Given the description of an element on the screen output the (x, y) to click on. 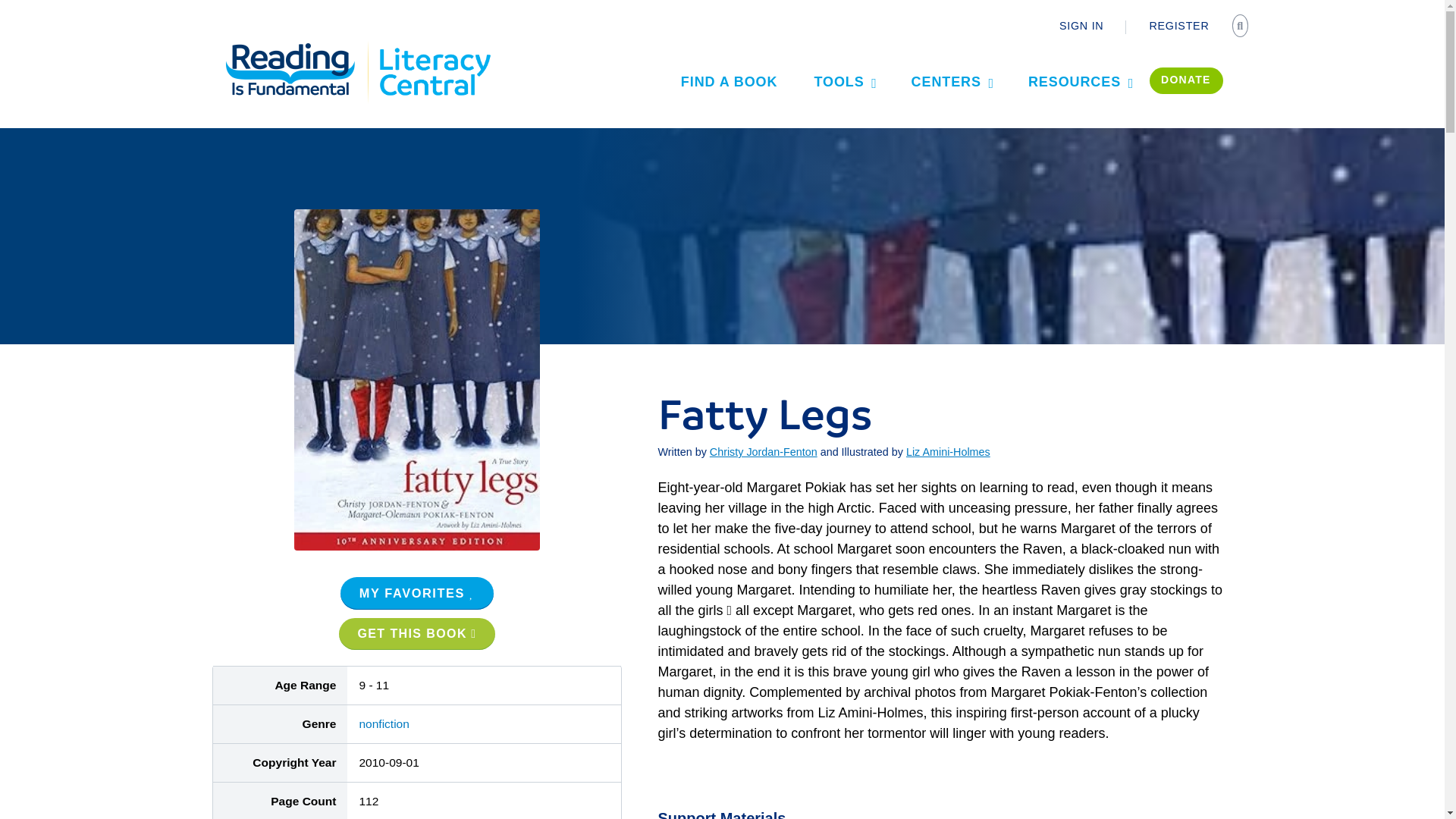
DONATE (1186, 80)
SIGN IN (1081, 26)
TOOLS (843, 81)
REGISTER (1178, 26)
FIND A BOOK (729, 81)
Literacy Central Home (433, 47)
RESOURCES (1080, 81)
SEARCH (1242, 26)
CENTERS (951, 81)
Home (299, 47)
